Given the description of an element on the screen output the (x, y) to click on. 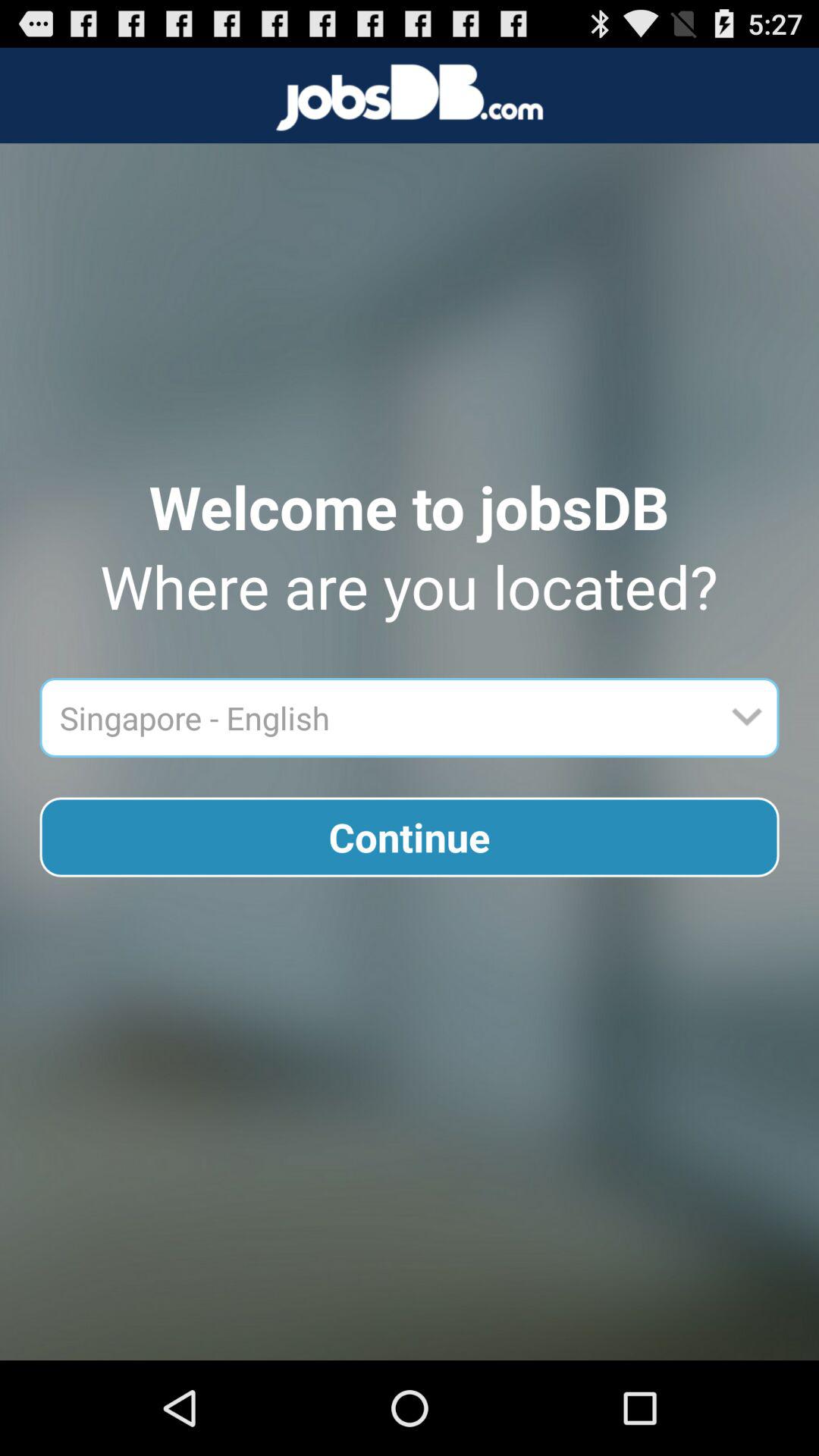
open item above continue button (383, 717)
